Given the description of an element on the screen output the (x, y) to click on. 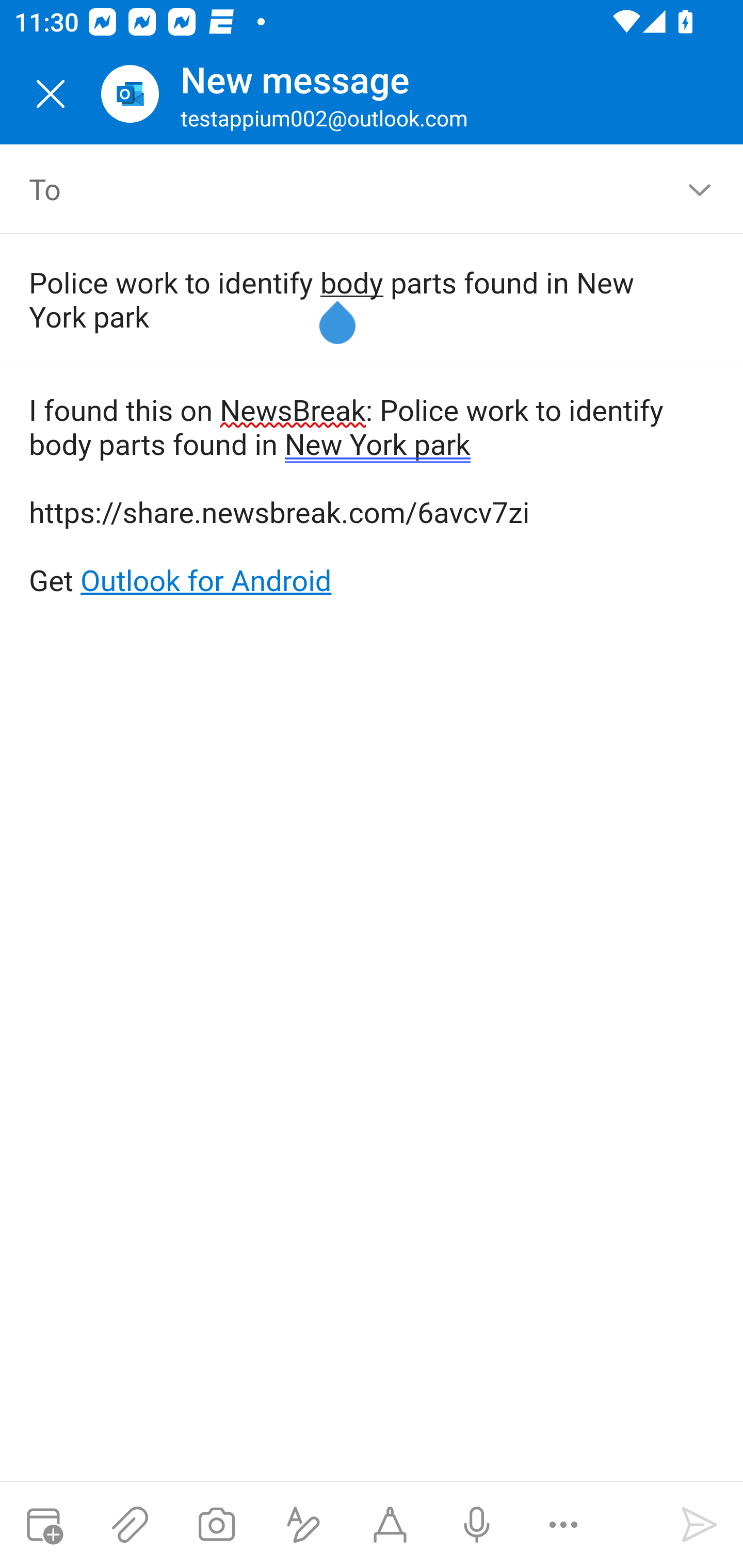
Close (50, 93)
Attach meeting (43, 1524)
Attach files (129, 1524)
Take a photo (216, 1524)
Show formatting options (303, 1524)
Start Ink compose (389, 1524)
Dictation (476, 1524)
More options (563, 1524)
Send (699, 1524)
